Given the description of an element on the screen output the (x, y) to click on. 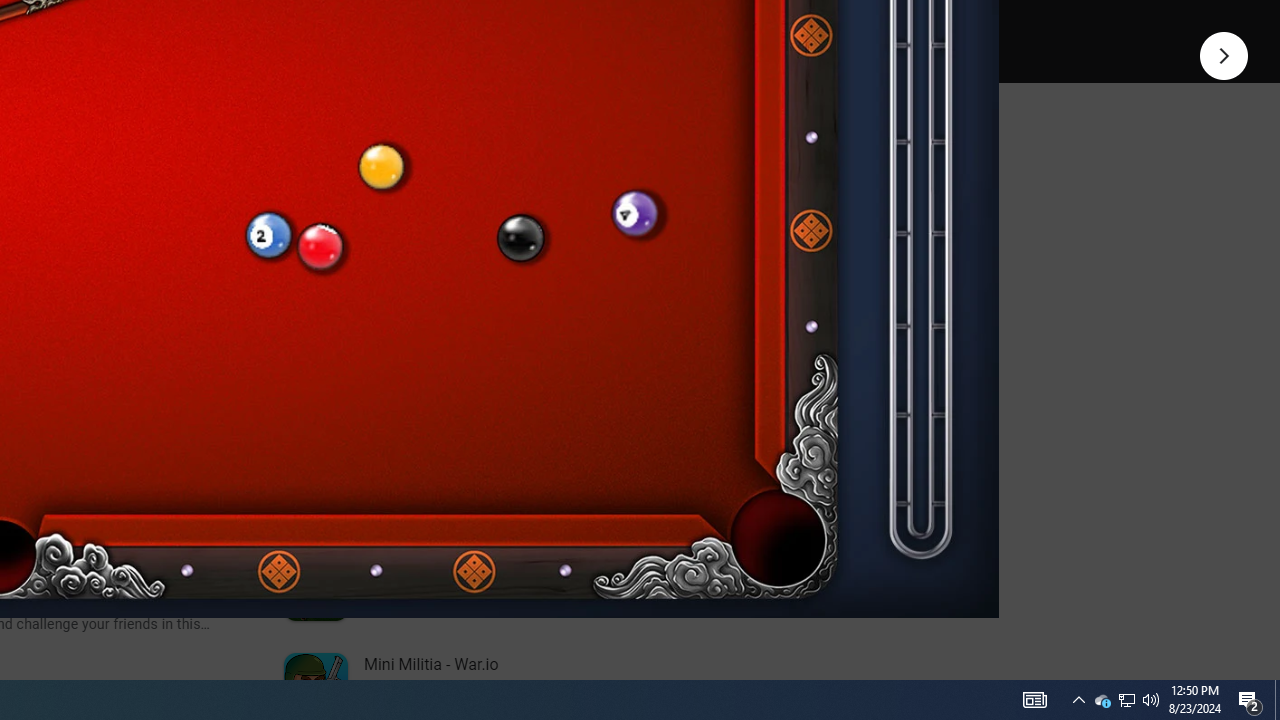
Scroll Next (212, 272)
Expand (441, 155)
See more information on More by Miniclip.com (530, 229)
Play trailer (587, 24)
